Given the description of an element on the screen output the (x, y) to click on. 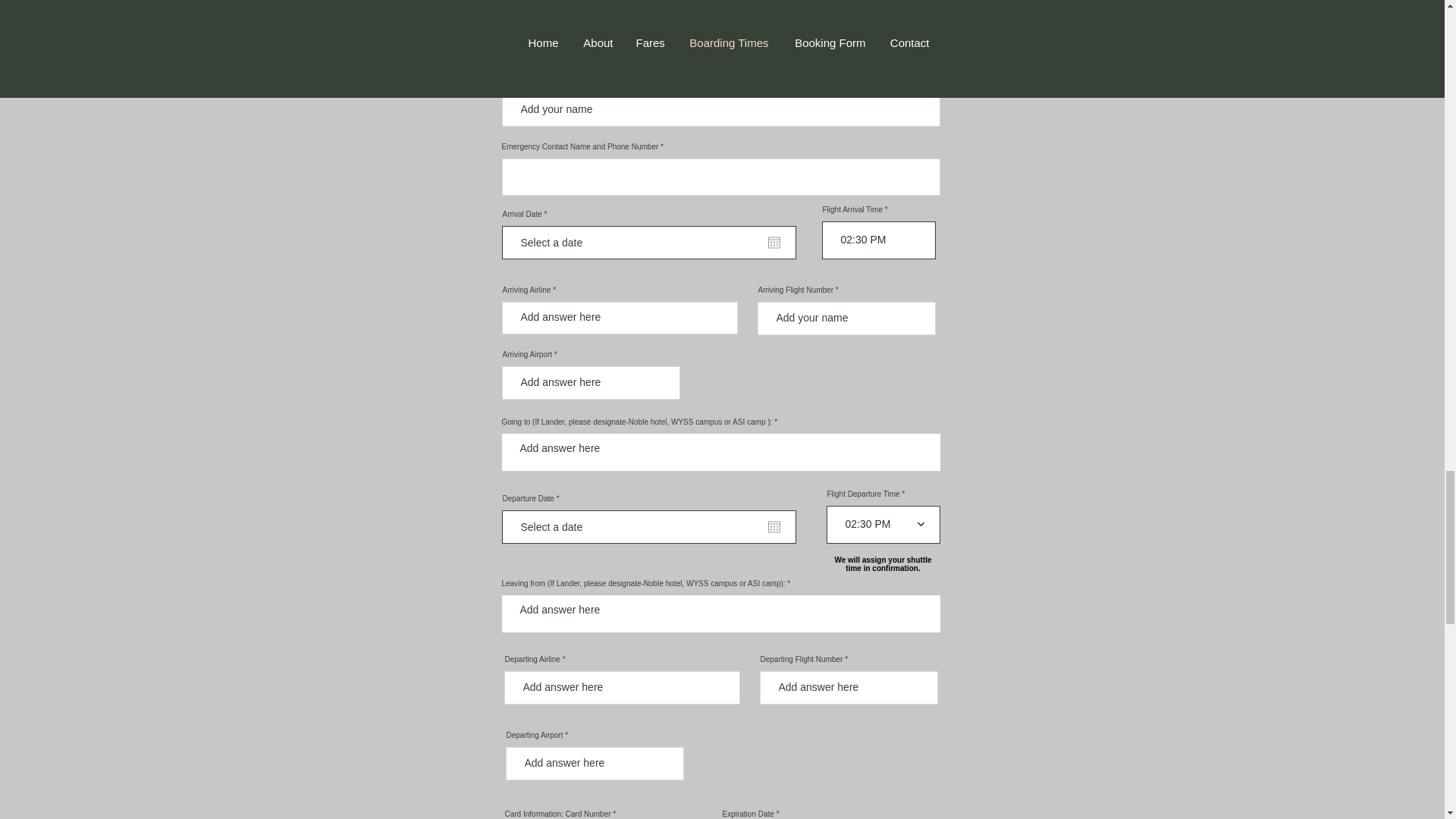
time in confirmation. (882, 568)
02:30 PM (887, 239)
We will assign your shuttle (882, 560)
